Given the description of an element on the screen output the (x, y) to click on. 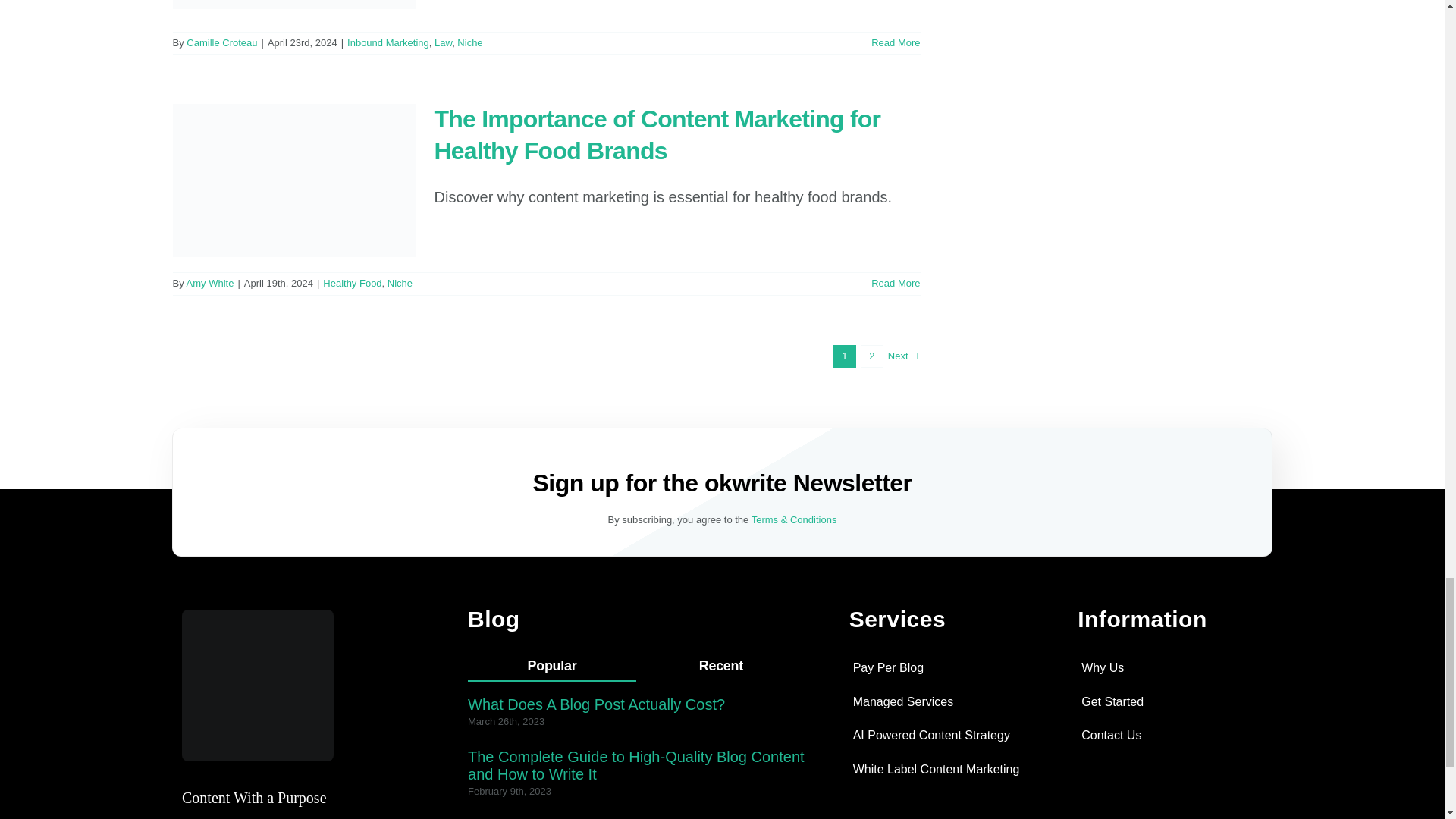
Posts by Amy White (210, 283)
Posts by Camille Croteau (221, 42)
